Given the description of an element on the screen output the (x, y) to click on. 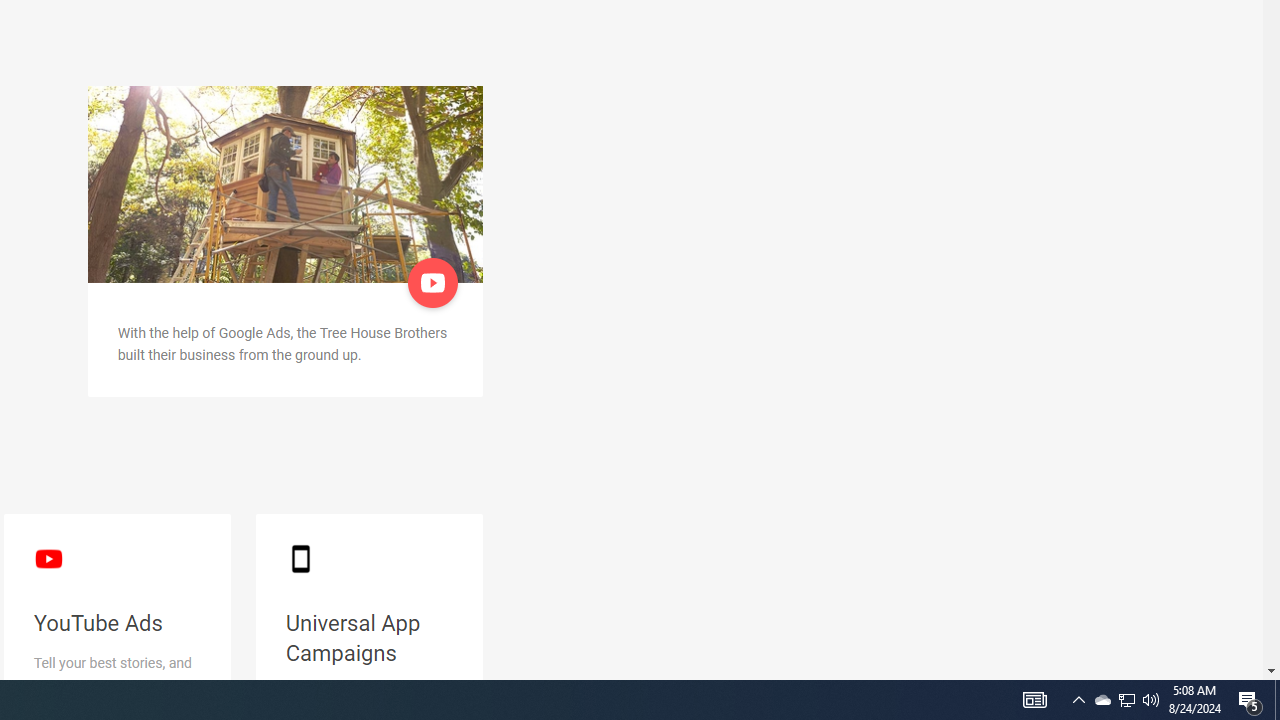
YouTube logo (48, 558)
Play video (433, 282)
Advertise card (285, 183)
smartphone black (300, 558)
